Given the description of an element on the screen output the (x, y) to click on. 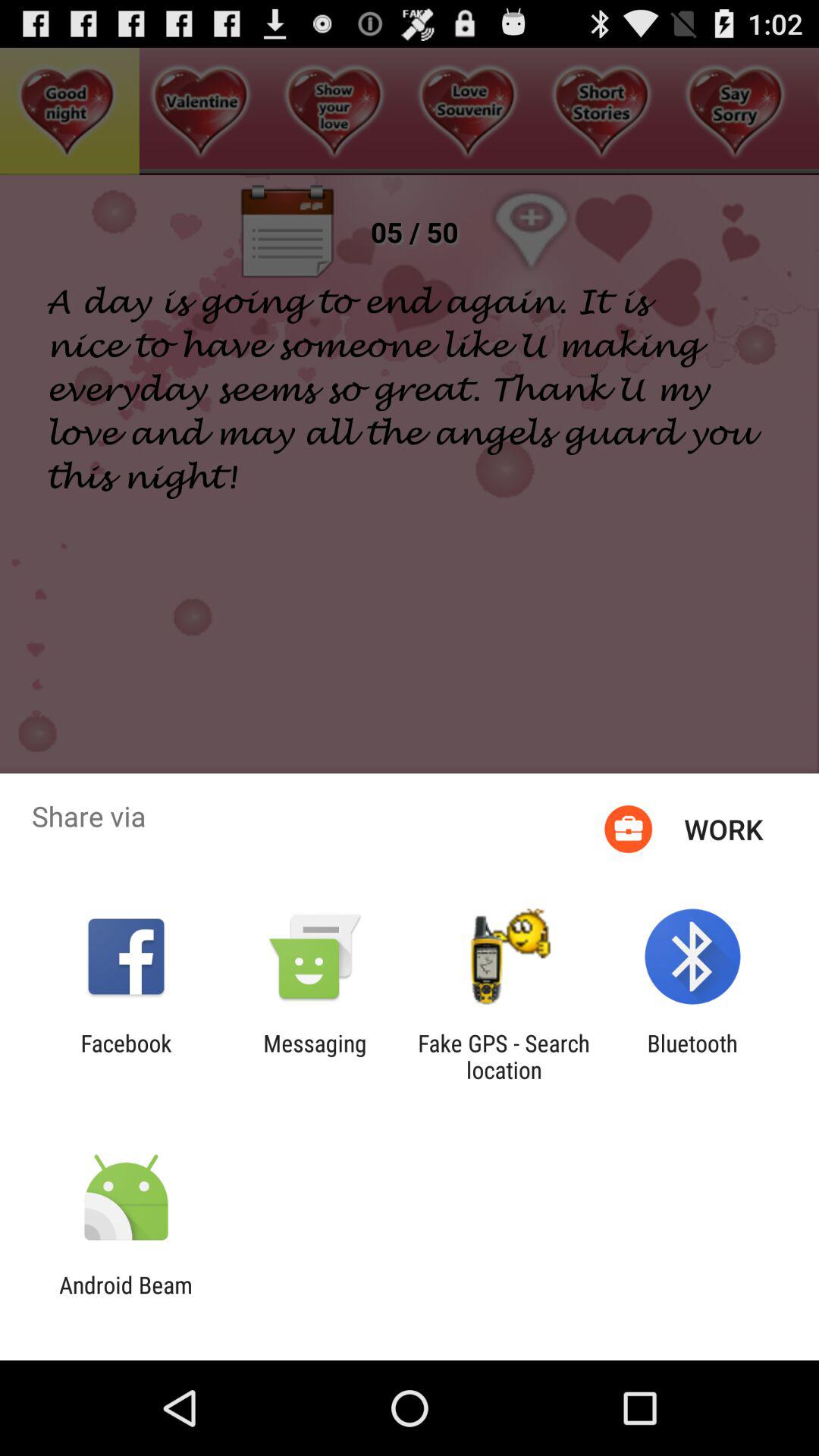
jump to the fake gps search app (503, 1056)
